Given the description of an element on the screen output the (x, y) to click on. 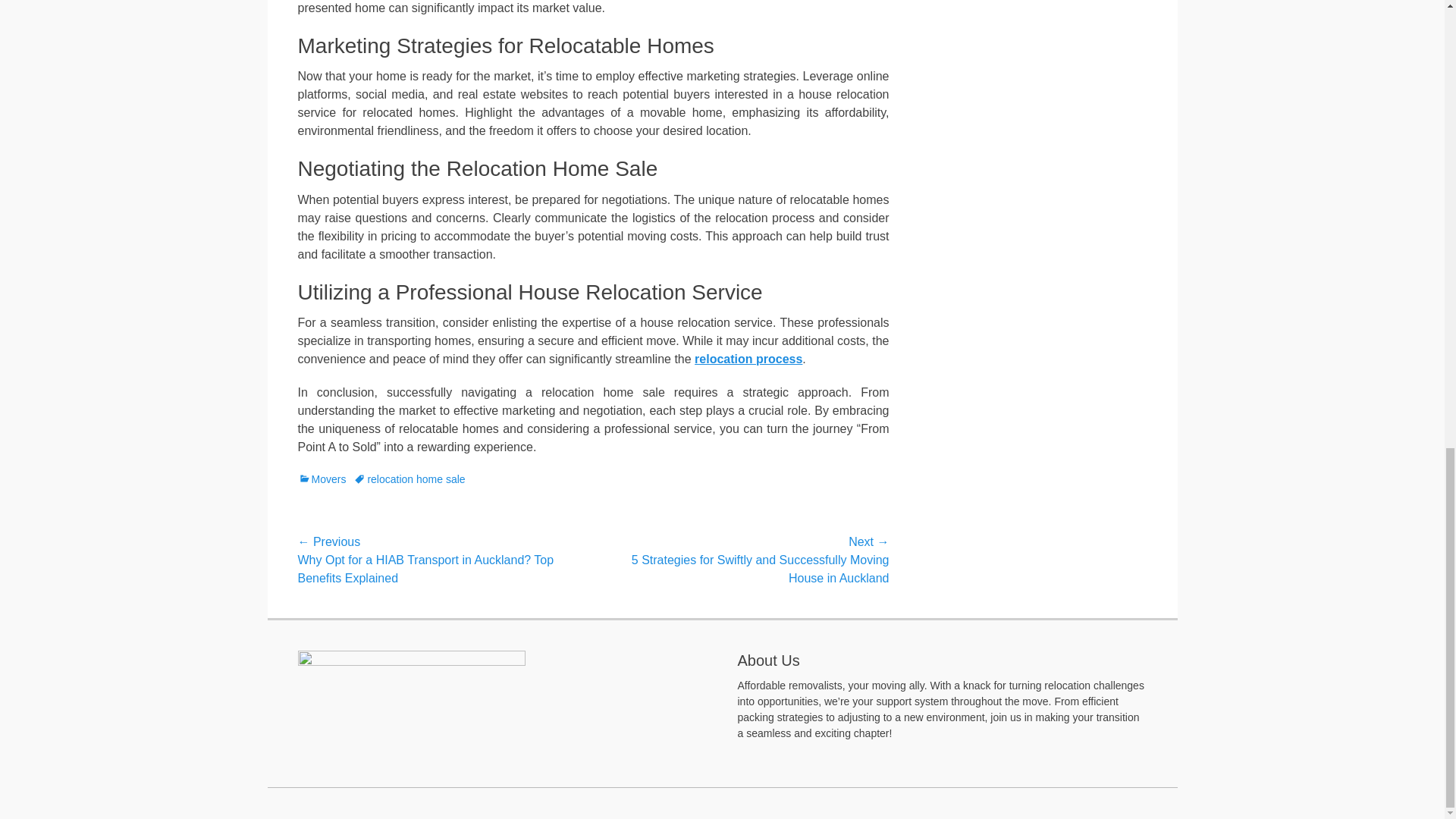
relocation home sale (408, 479)
Movers (321, 479)
relocation process (748, 358)
